Given the description of an element on the screen output the (x, y) to click on. 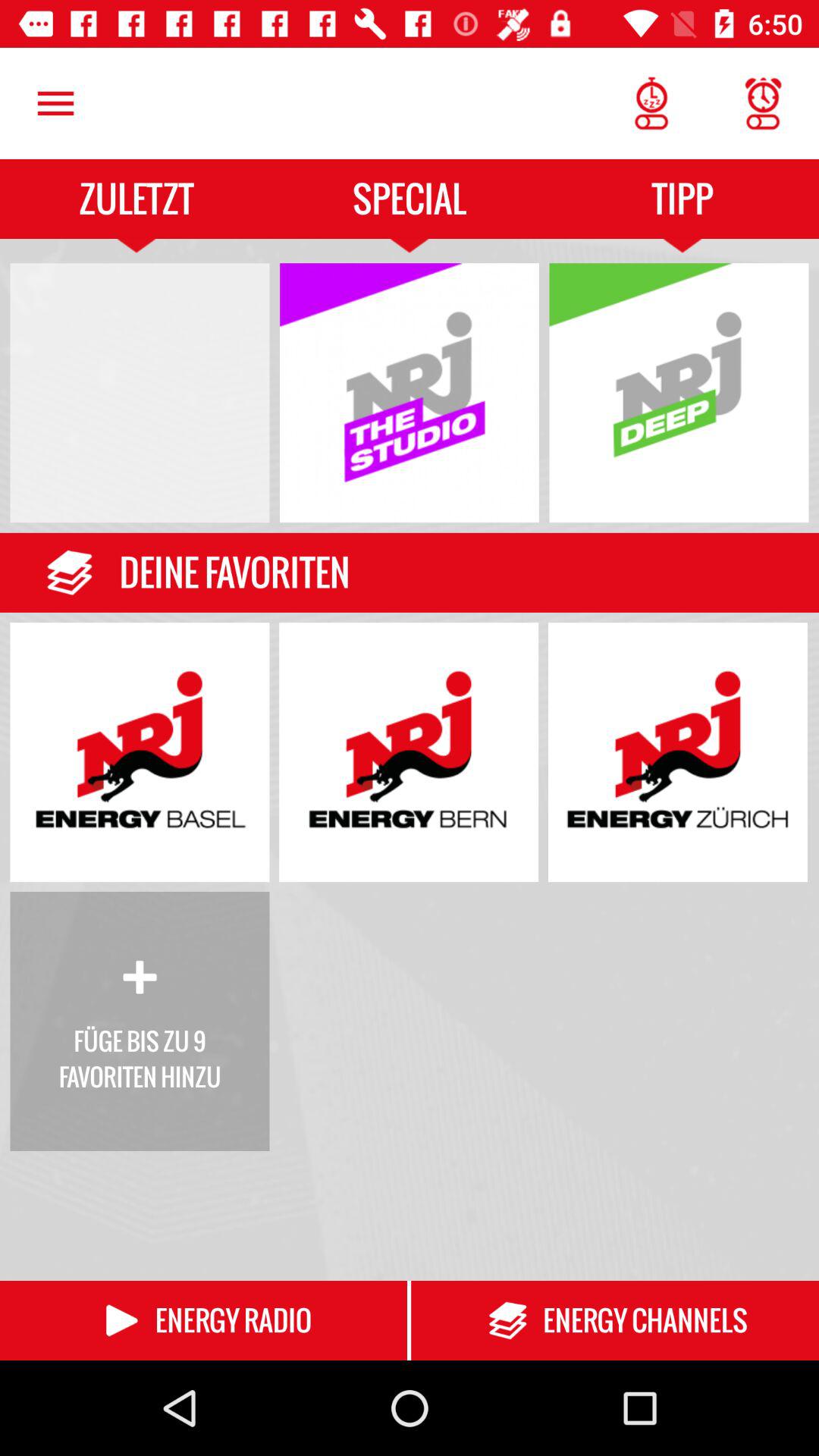
launch the item to the left of the special (55, 103)
